Given the description of an element on the screen output the (x, y) to click on. 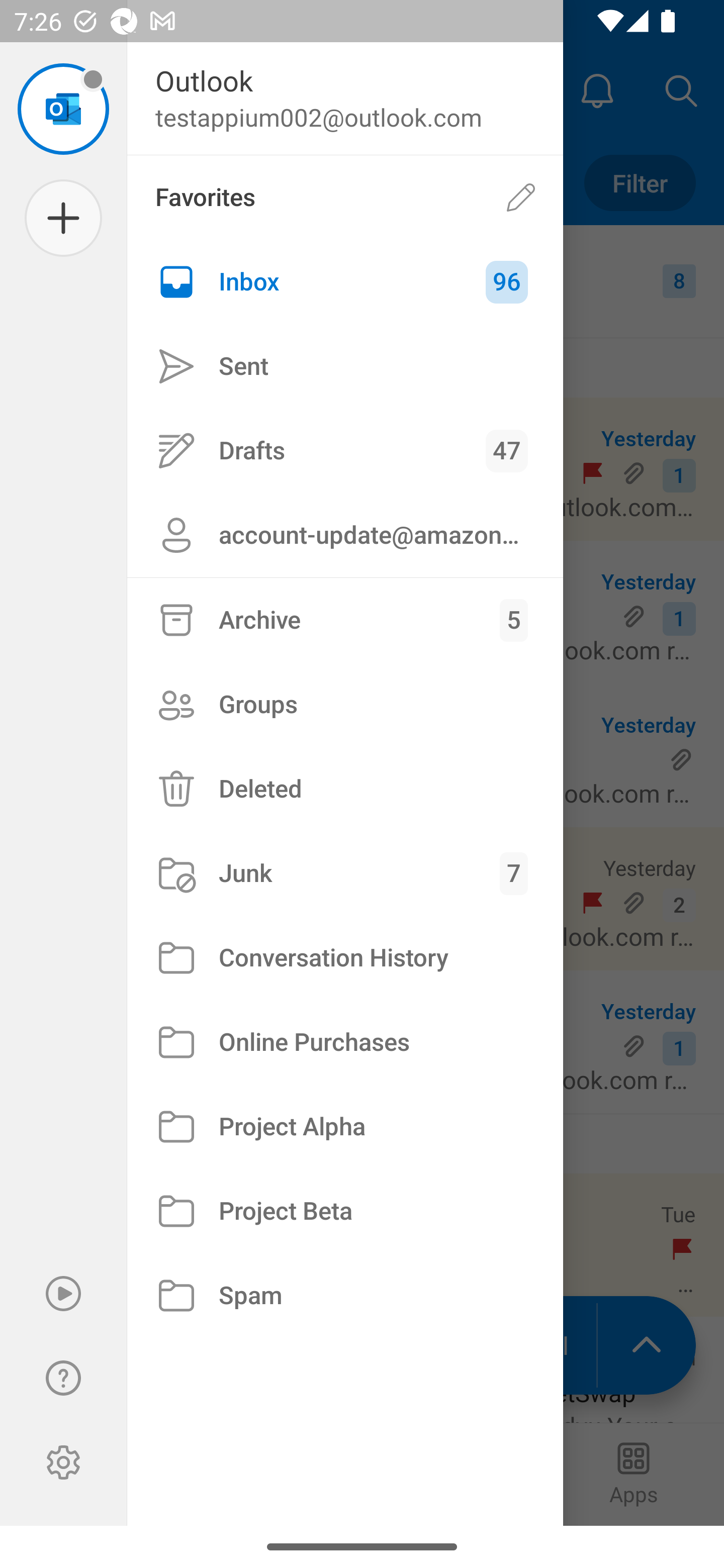
Edit favorites (520, 197)
Add account (63, 217)
Inbox Inbox, 96 unread emails,Selected (345, 281)
Sent (345, 366)
Drafts Drafts, 47 unread emails (345, 450)
account-update@amazon.com (345, 534)
Archive Archive, 2 of 10, level 1, 5 unread emails (345, 619)
Groups Groups, 3 of 10, level 1 (345, 703)
Deleted Deleted, 4 of 10, level 1 (345, 788)
Junk Junk, 5 of 10, level 1, 7 unread emails (345, 873)
Project Alpha Project Alpha, 8 of 10, level 1 (345, 1127)
Project Beta Project Beta, 9 of 10, level 1 (345, 1210)
Play My Emails (62, 1293)
Spam Spam, 10 of 10, level 1 (345, 1294)
Help (62, 1377)
Settings (62, 1462)
